Given the description of an element on the screen output the (x, y) to click on. 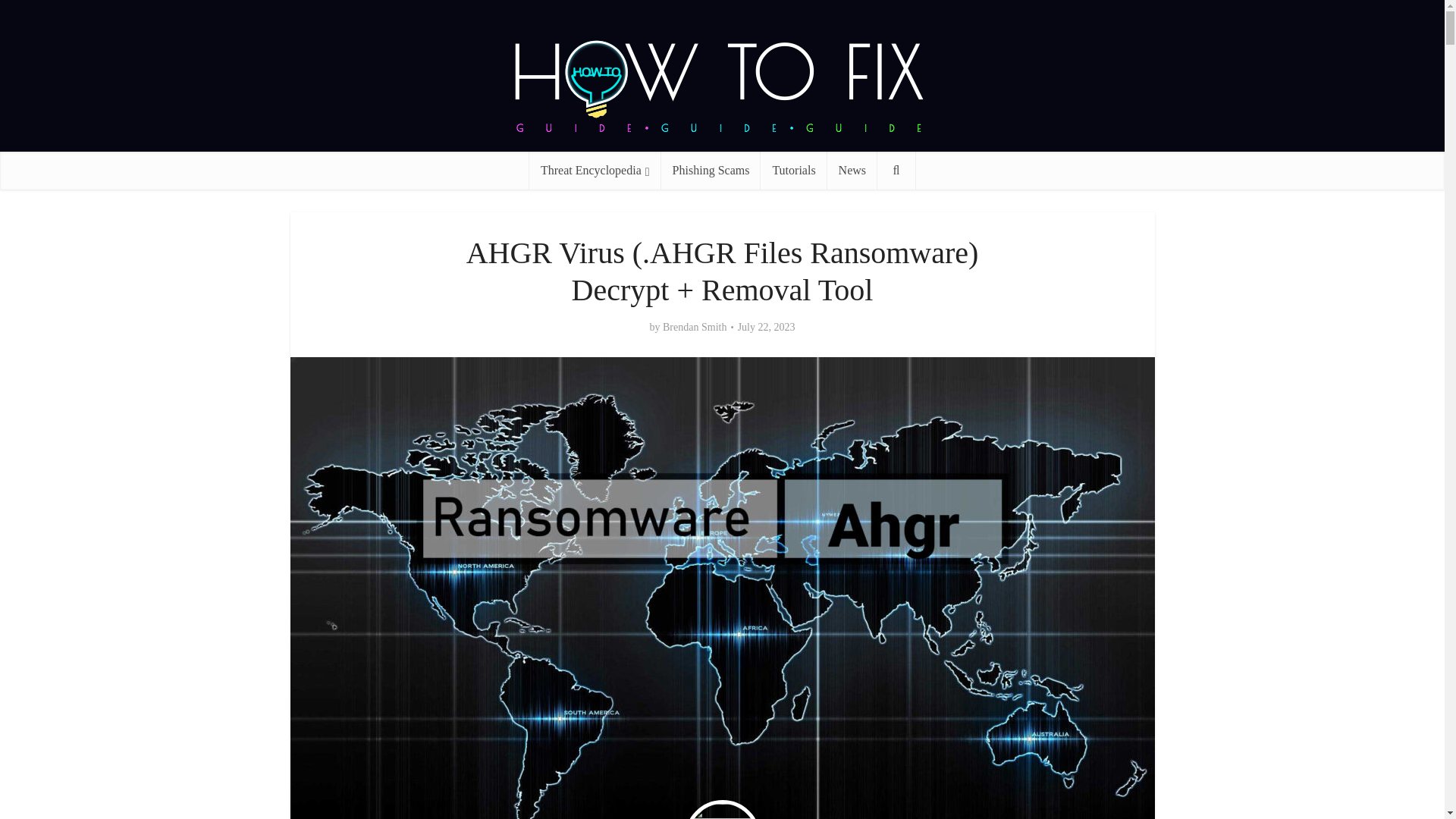
Tutorials (793, 170)
Threat Encyclopedia (595, 170)
News (852, 170)
Brendan Smith (694, 327)
Phishing Scams (711, 170)
